Given the description of an element on the screen output the (x, y) to click on. 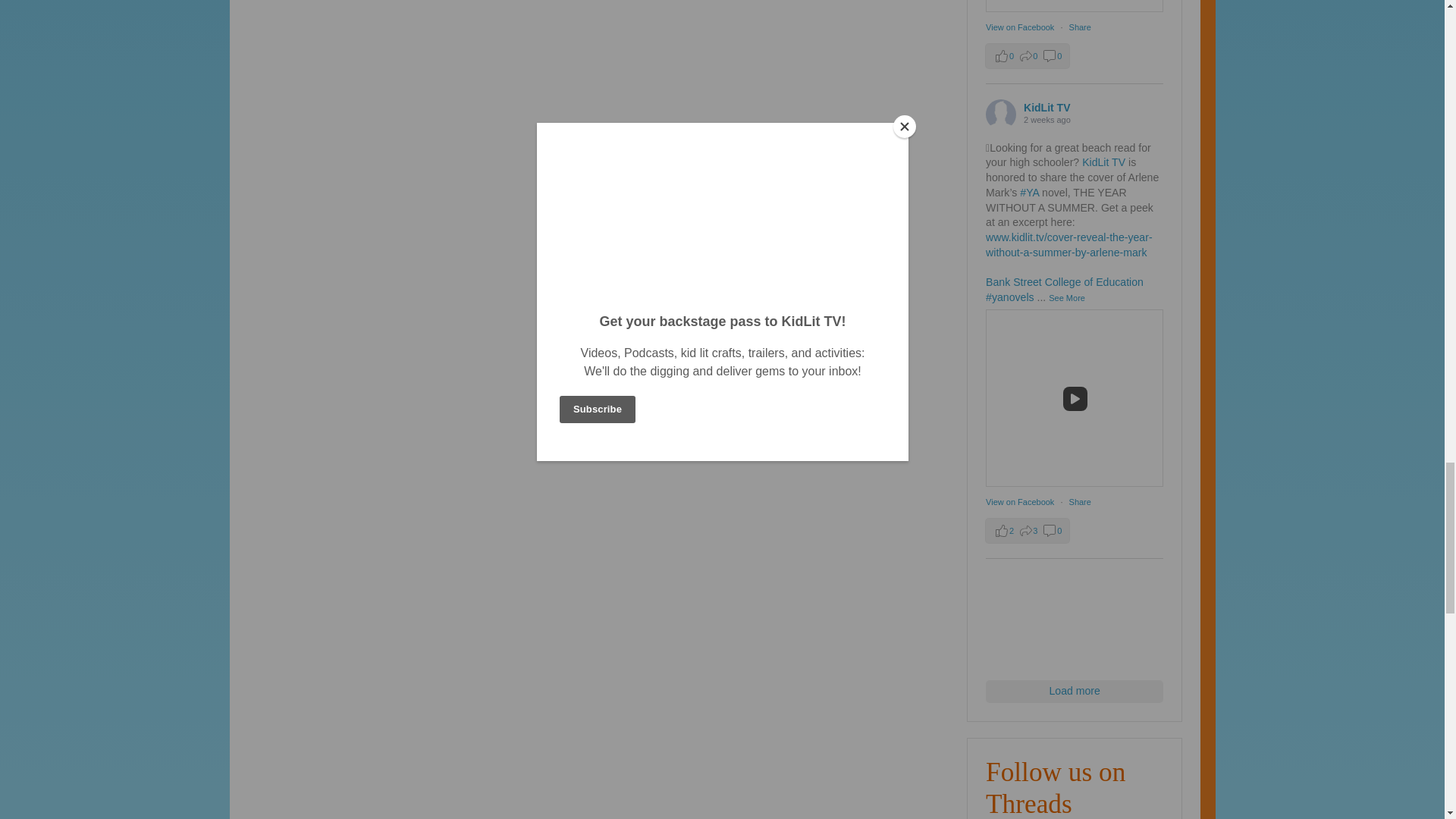
Book Cover Reveal! (1074, 397)
View on Facebook (1021, 26)
Share (1079, 26)
